Given the description of an element on the screen output the (x, y) to click on. 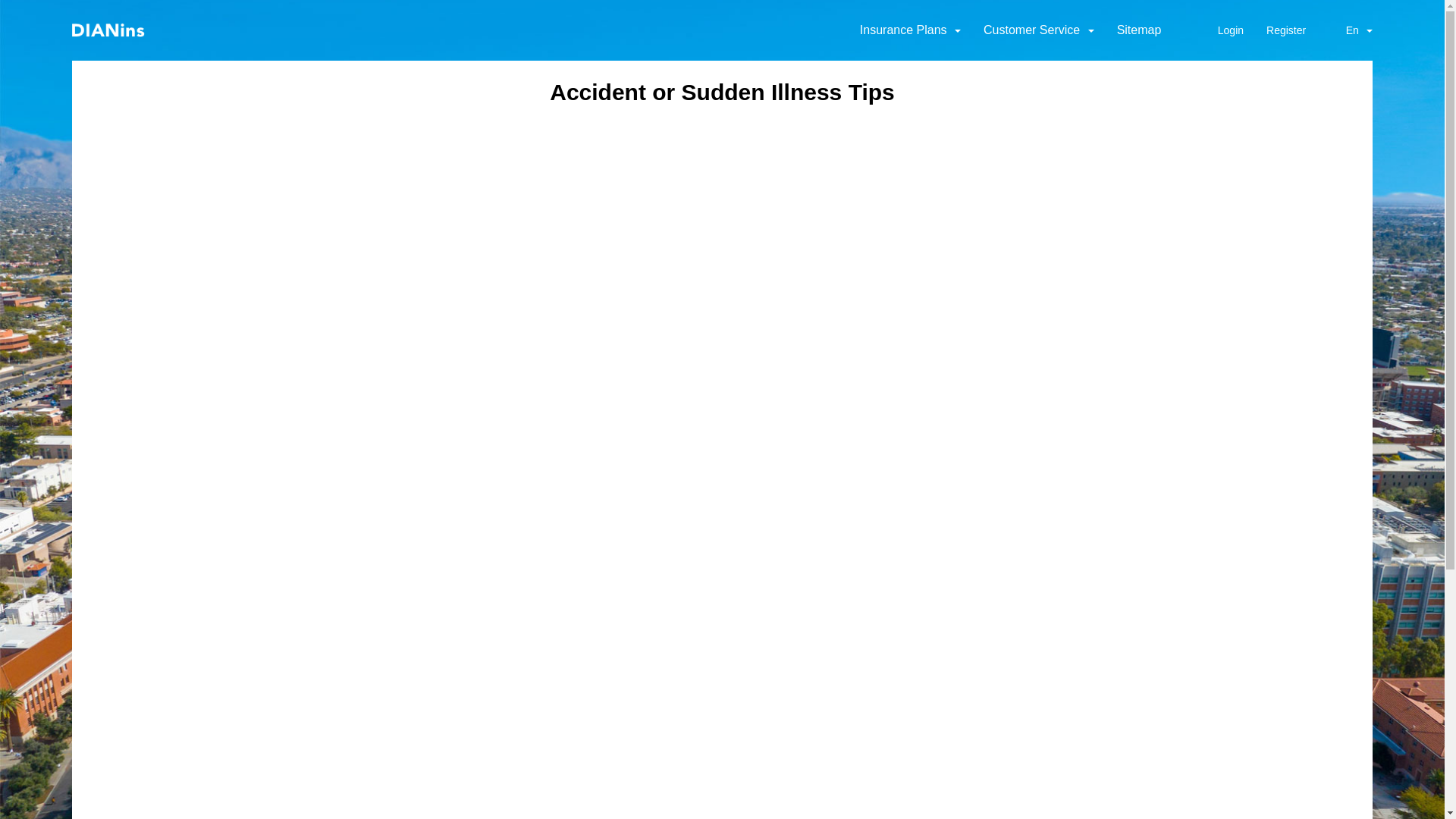
Customer Service (1038, 30)
En (1350, 30)
Register (1286, 30)
Sitemap (1139, 30)
Login (1231, 30)
Insurance Plans (910, 30)
